Given the description of an element on the screen output the (x, y) to click on. 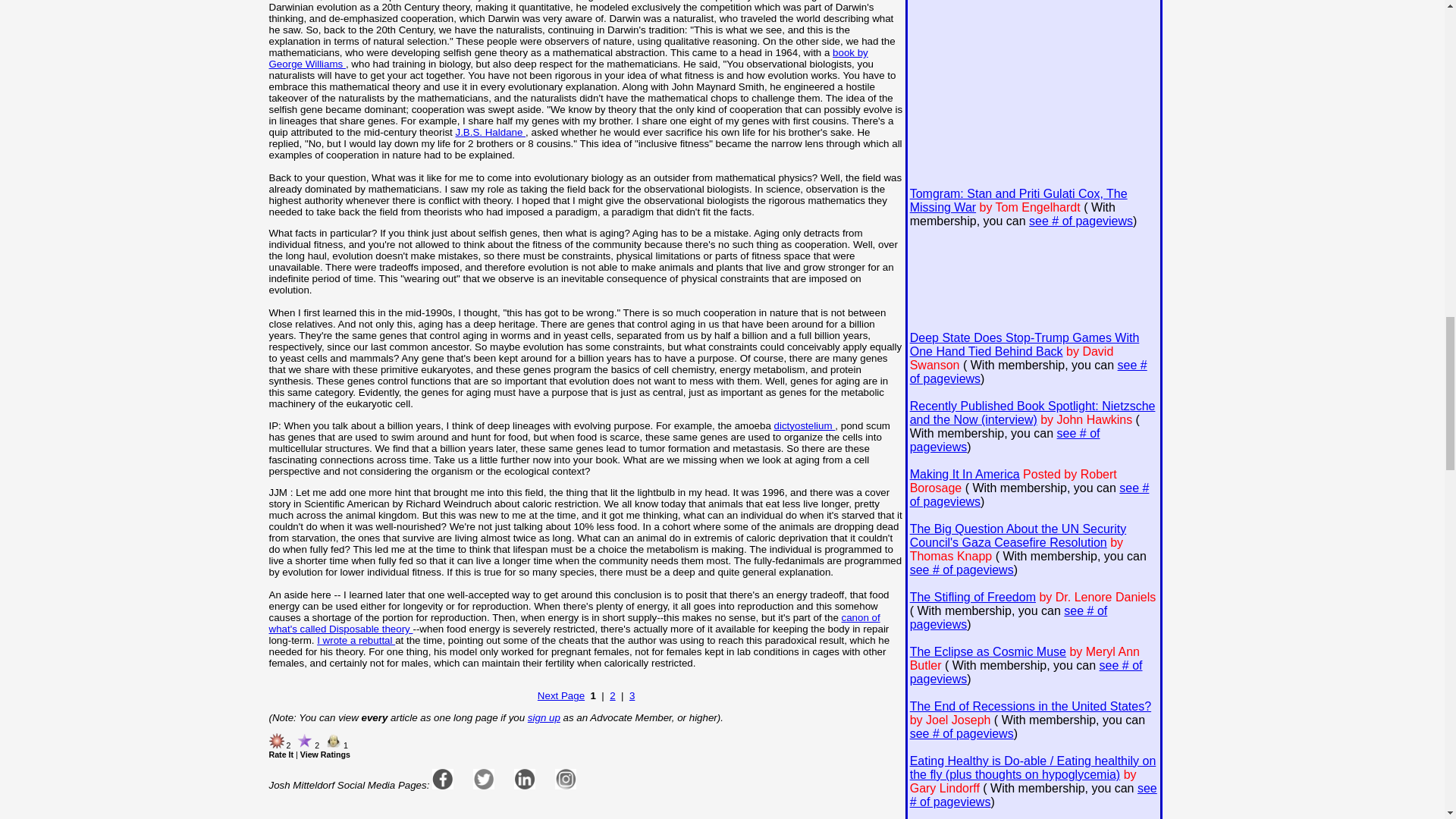
Well Said (333, 740)
book by George Williams (567, 57)
Next Page (561, 695)
Instagram page url on login Profile not filled in (565, 778)
J.B.S. Haldane (489, 132)
dictyostelium (804, 425)
canon of what's called Disposable theory (573, 622)
Linkedin page url on login Profile not filled in (524, 778)
Twitter page url on login Profile not filled in (484, 778)
Must Read (275, 740)
